Given the description of an element on the screen output the (x, y) to click on. 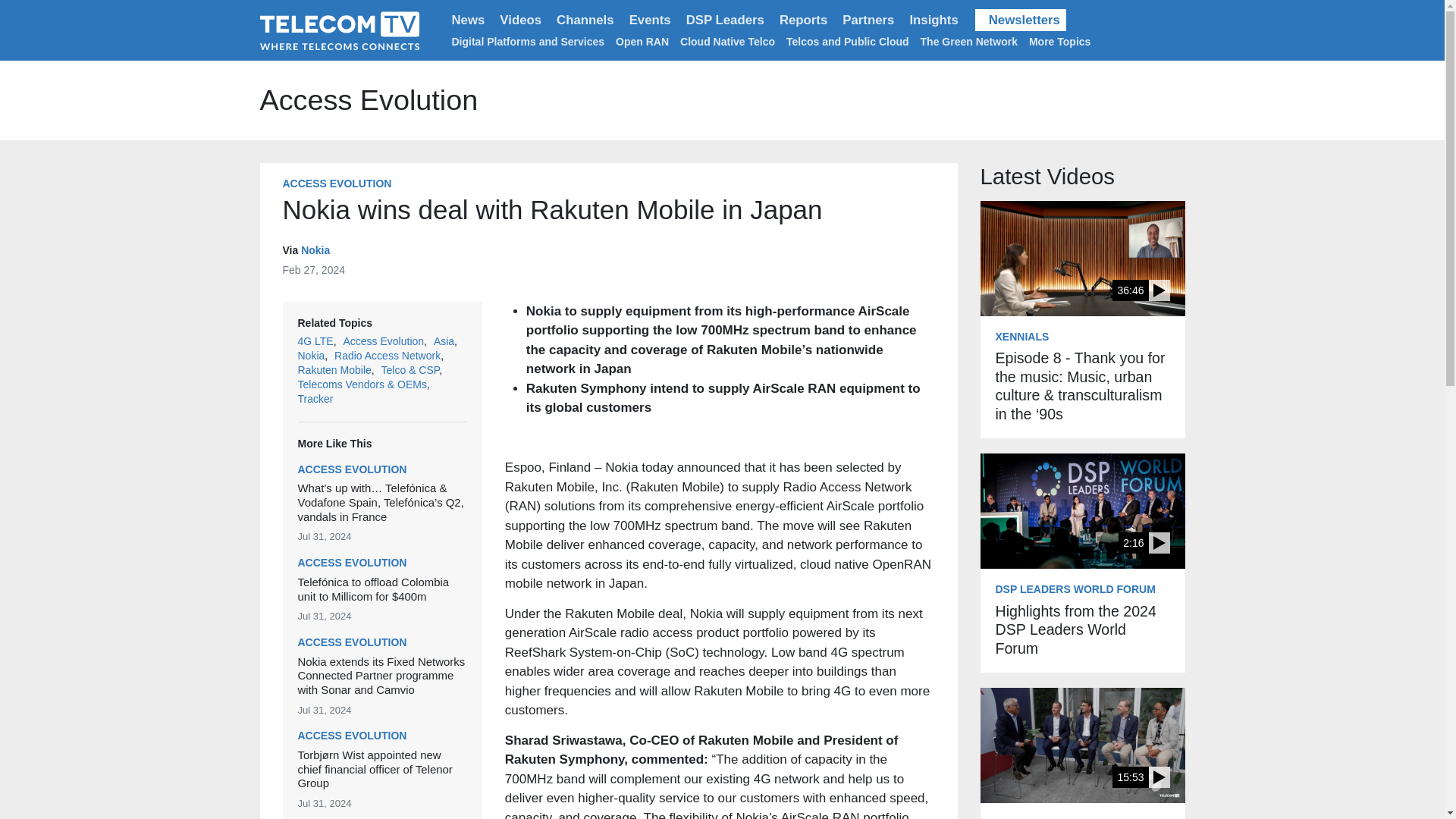
More Topics (1062, 41)
Newsletters (1020, 20)
Videos (520, 20)
Open RAN (641, 41)
DSP Leaders (724, 20)
Telcos and Public Cloud (847, 41)
Digital Platforms and Services (528, 41)
Partners (867, 20)
Channels (585, 20)
Reports (802, 20)
Events (650, 20)
Insights (932, 20)
Cloud Native Telco (726, 41)
News (468, 20)
The Green Network (968, 41)
